Given the description of an element on the screen output the (x, y) to click on. 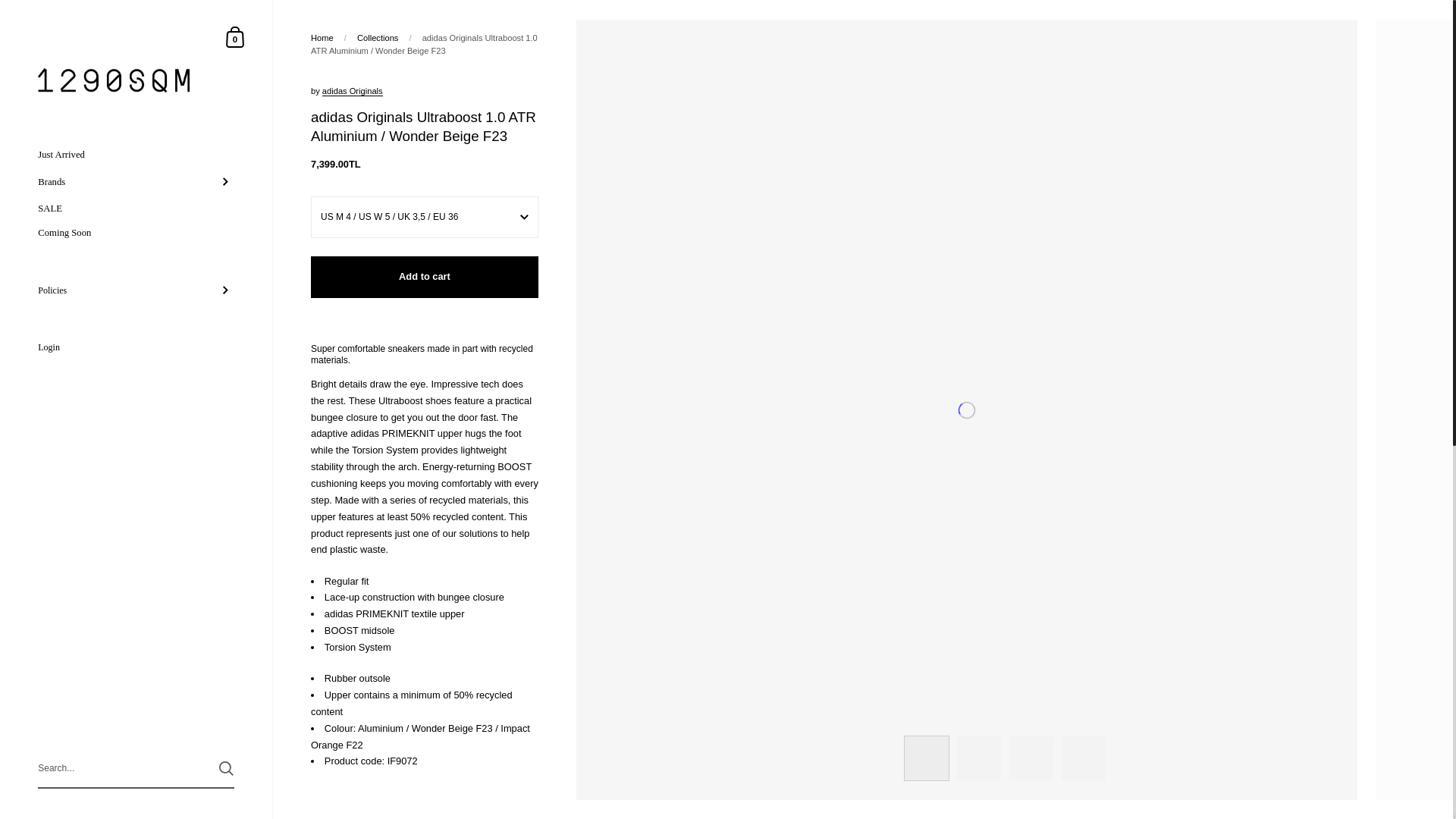
SALE (136, 208)
Shopping Cart (235, 35)
adidas Originals (351, 91)
Policies (136, 290)
Brands (136, 182)
Just Arrived (136, 155)
Coming Soon (136, 232)
